Given the description of an element on the screen output the (x, y) to click on. 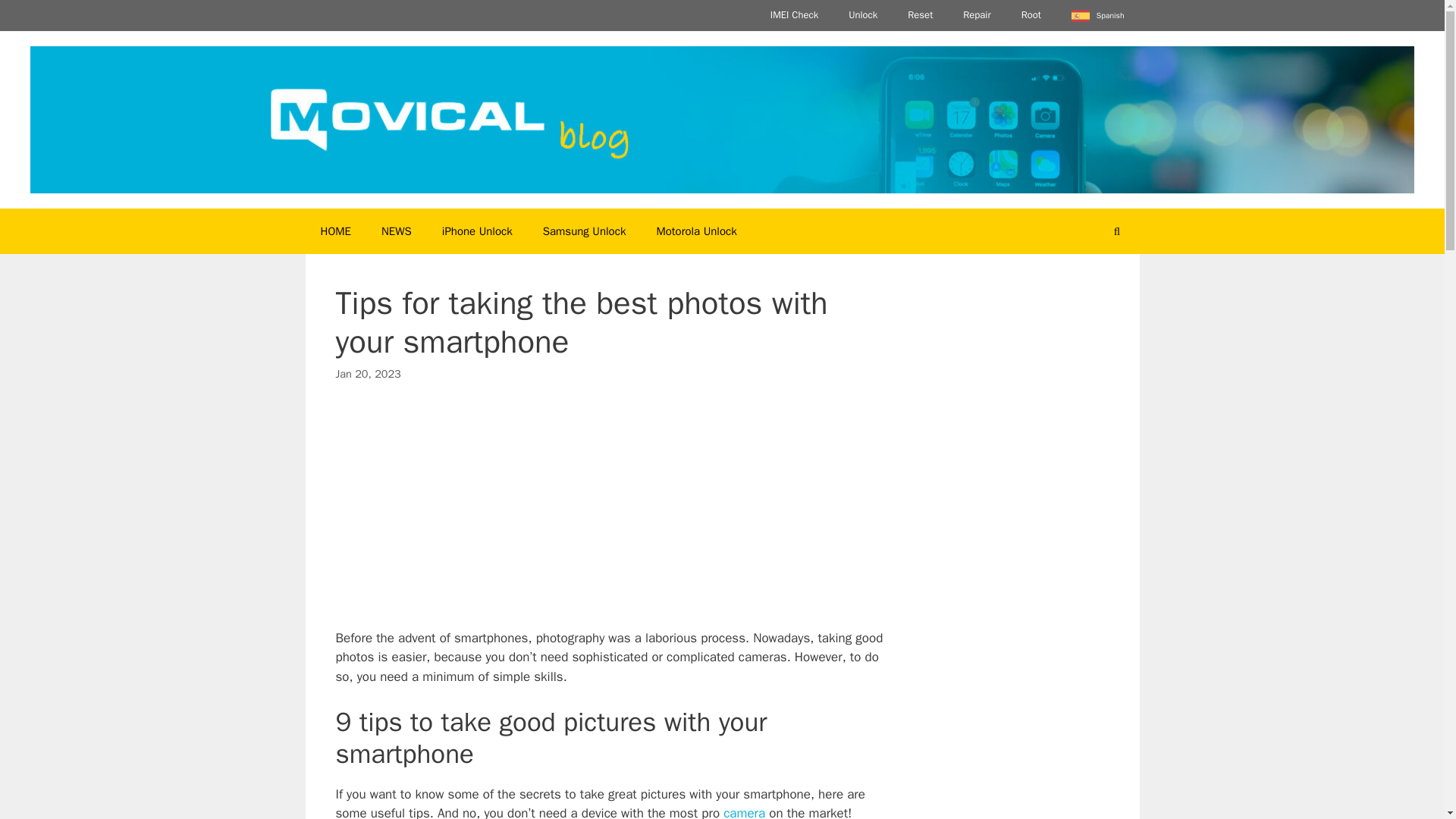
Root (1031, 15)
NEWS (396, 230)
iPhone Unlock (476, 230)
IMEI Check (793, 15)
Advertisement (1012, 790)
camera (744, 812)
Repair (976, 15)
HOME (334, 230)
Unlock (862, 15)
Advertisement (609, 514)
